Given the description of an element on the screen output the (x, y) to click on. 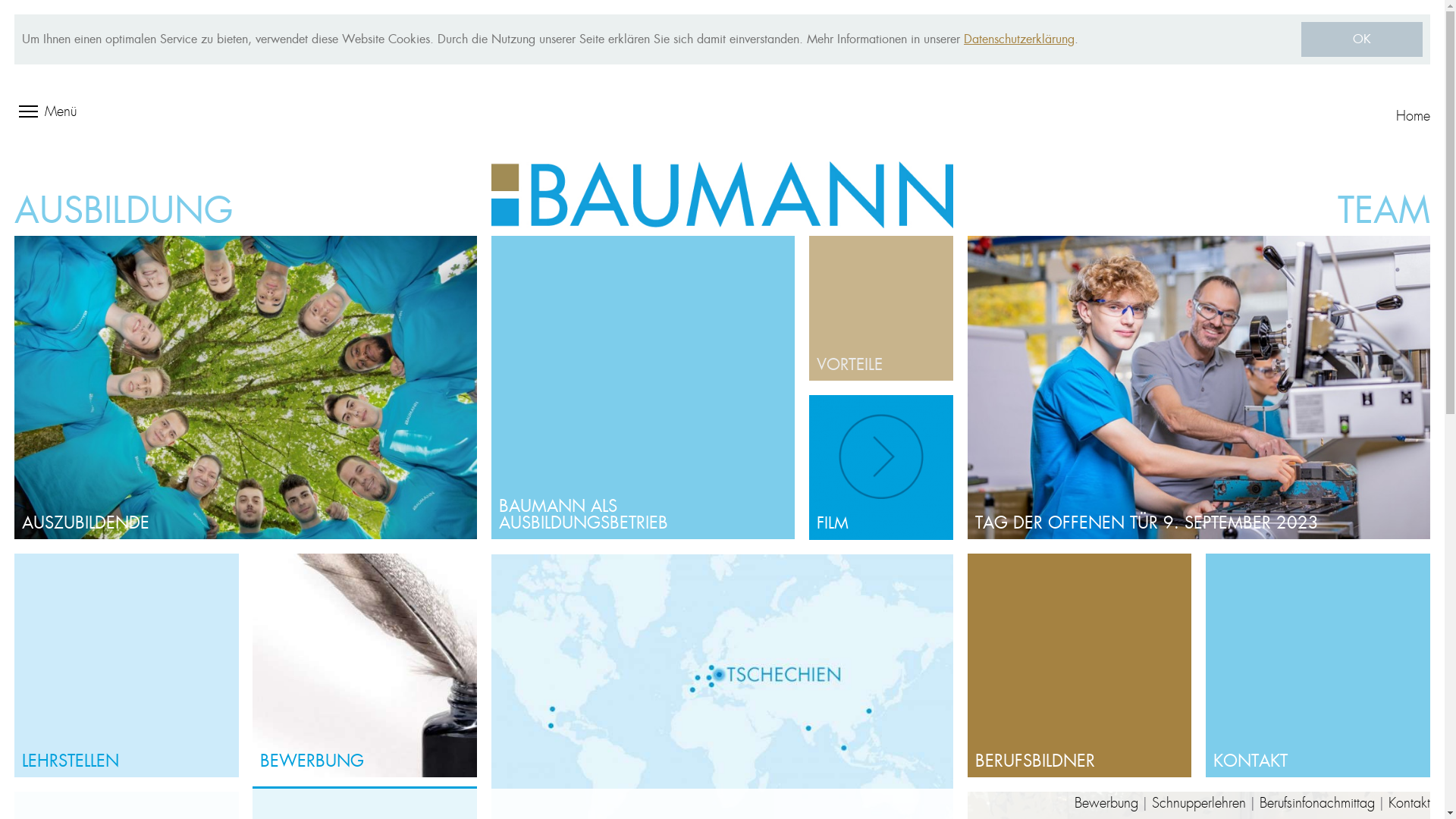
AUSZUBILDENDE Element type: text (245, 387)
Berufsinfonachmittag Element type: text (1316, 803)
VORTEILE Element type: text (880, 307)
BEWERBUNG Element type: text (364, 665)
Schnupperlehren Element type: text (1198, 803)
BAUMANN ALS AUSBILDUNGSBETRIEB Element type: text (642, 387)
LEHRSTELLEN Element type: text (126, 665)
OK Element type: text (1361, 38)
BERUFSBILDNER Element type: text (1079, 665)
Kontakt Element type: text (1409, 803)
FILM Element type: text (880, 467)
KONTAKT Element type: text (1317, 665)
Bewerbung Element type: text (1106, 803)
